Given the description of an element on the screen output the (x, y) to click on. 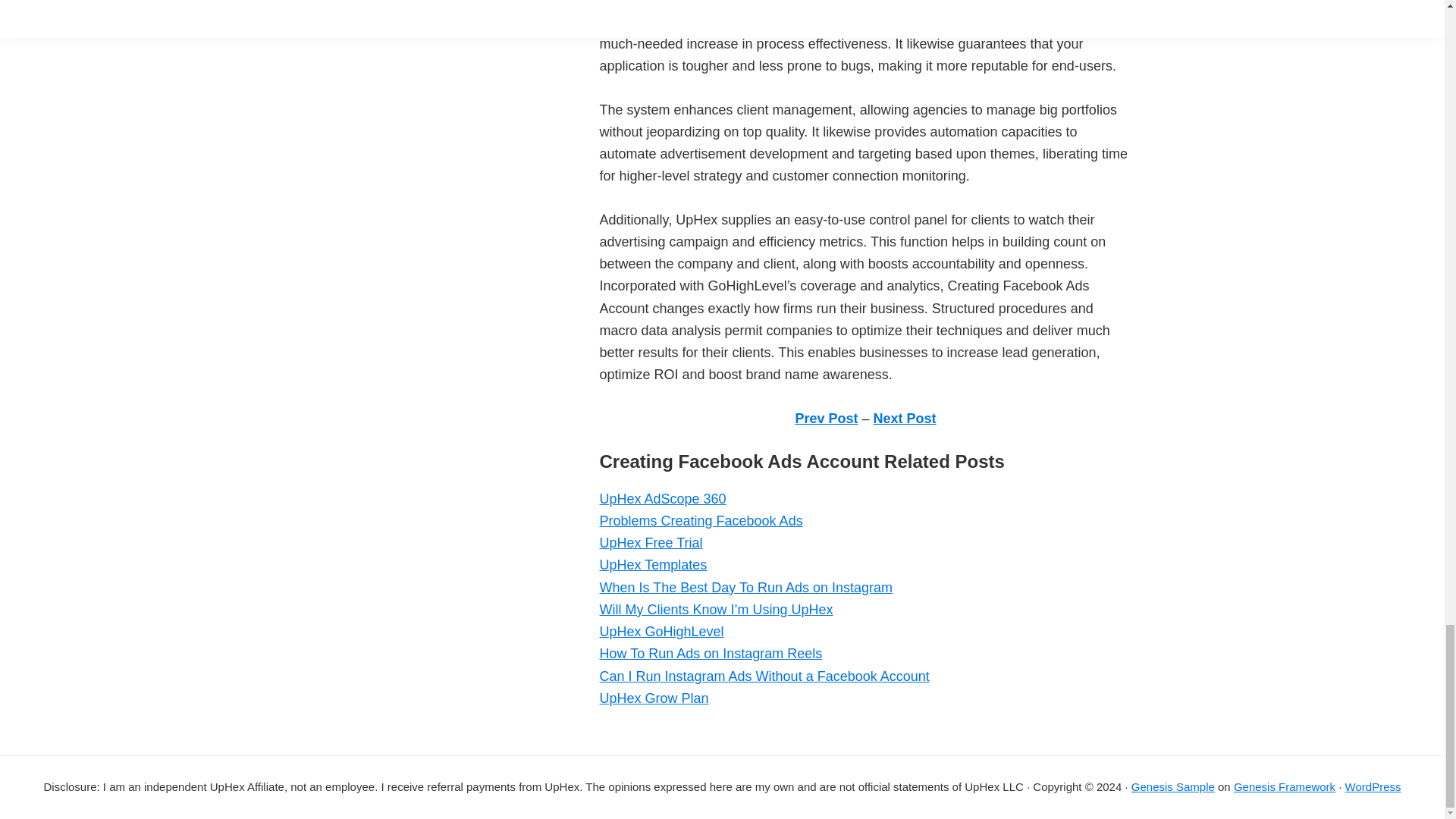
UpHex AdScope 360 (661, 498)
UpHex GoHighLevel (660, 631)
Next Post (904, 418)
UpHex GoHighLevel (660, 631)
Genesis Framework (1284, 786)
UpHex Free Trial (649, 542)
WordPress (1372, 786)
UpHex Templates (652, 564)
Can I Run Instagram Ads Without a Facebook Account (763, 676)
UpHex Templates (652, 564)
